Given the description of an element on the screen output the (x, y) to click on. 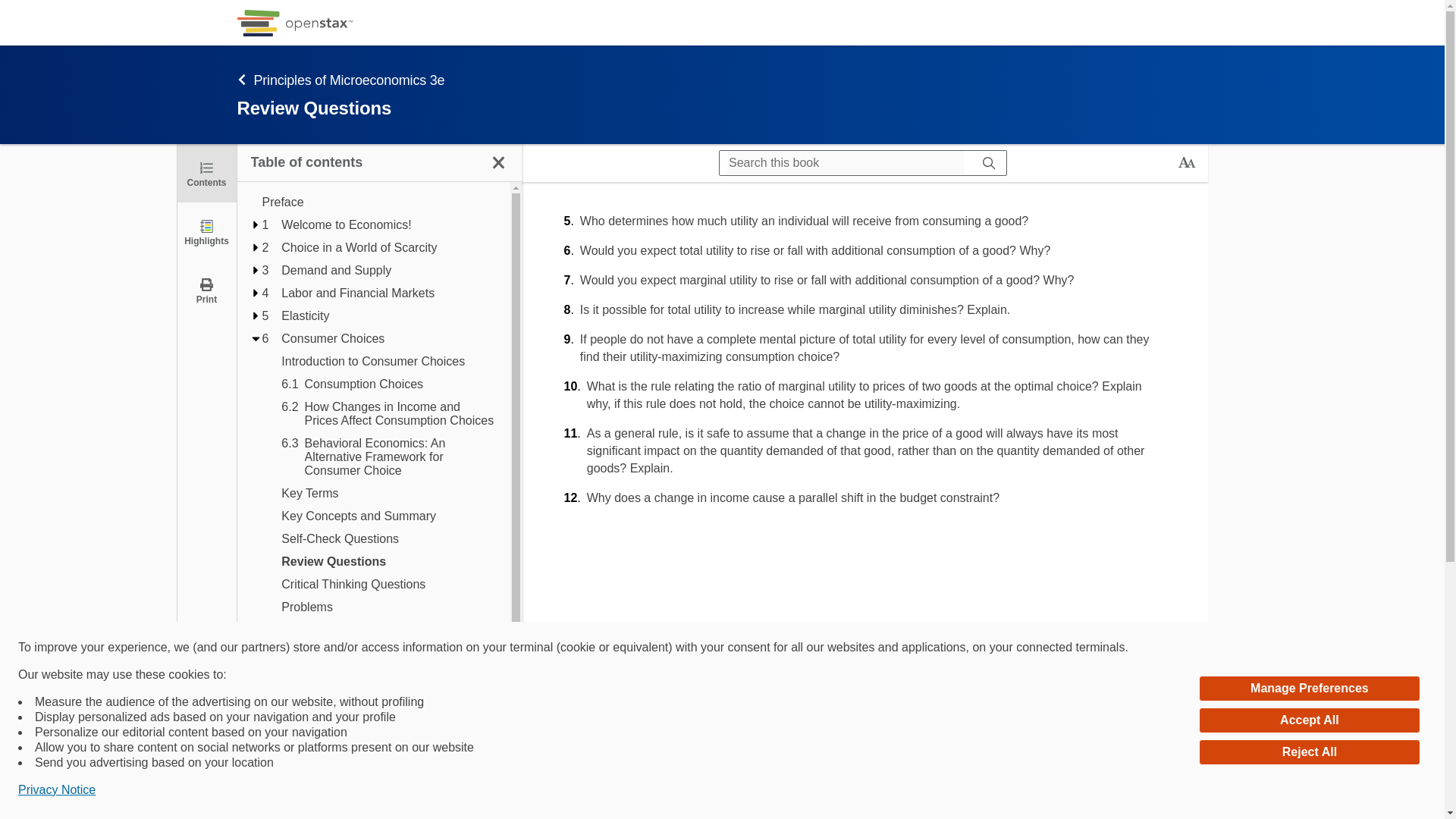
Preface (379, 202)
Accept All (1309, 720)
Search (16, 12)
Search (989, 162)
Privacy Notice (56, 789)
Principles of Microeconomics 3e (338, 119)
Highlights (206, 231)
Manage Preferences (1309, 688)
Contents (206, 173)
